Given the description of an element on the screen output the (x, y) to click on. 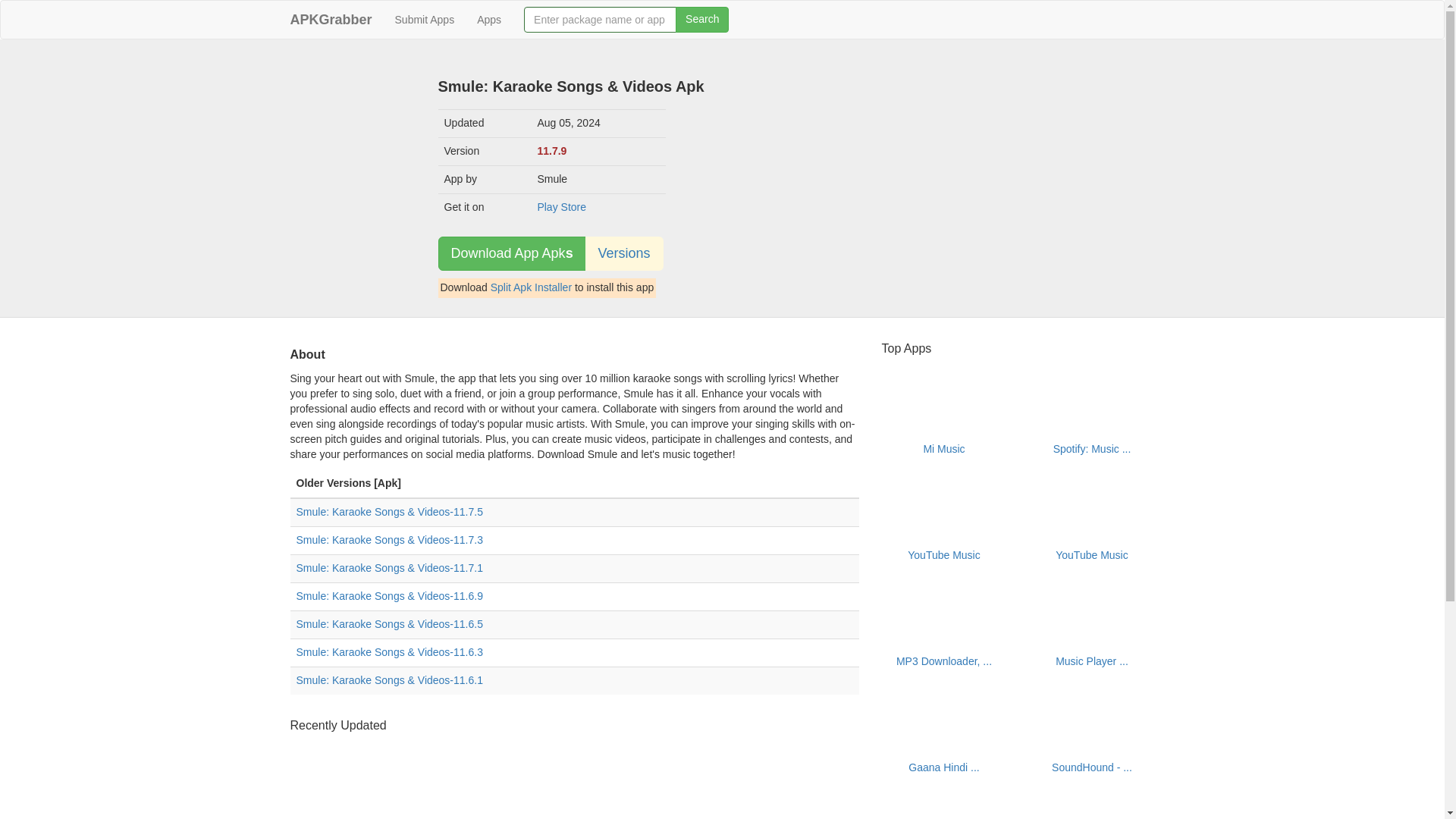
Music Player - MP3 Play Music apk for android (644, 770)
Search (702, 19)
Split Apk Installer (531, 287)
Submit Apps (424, 19)
Search (702, 19)
APKGrabber (331, 19)
Descargar Musica MP3 apk for android (787, 770)
download apks (331, 19)
Download App Apks (512, 253)
Versions (624, 253)
